Given the description of an element on the screen output the (x, y) to click on. 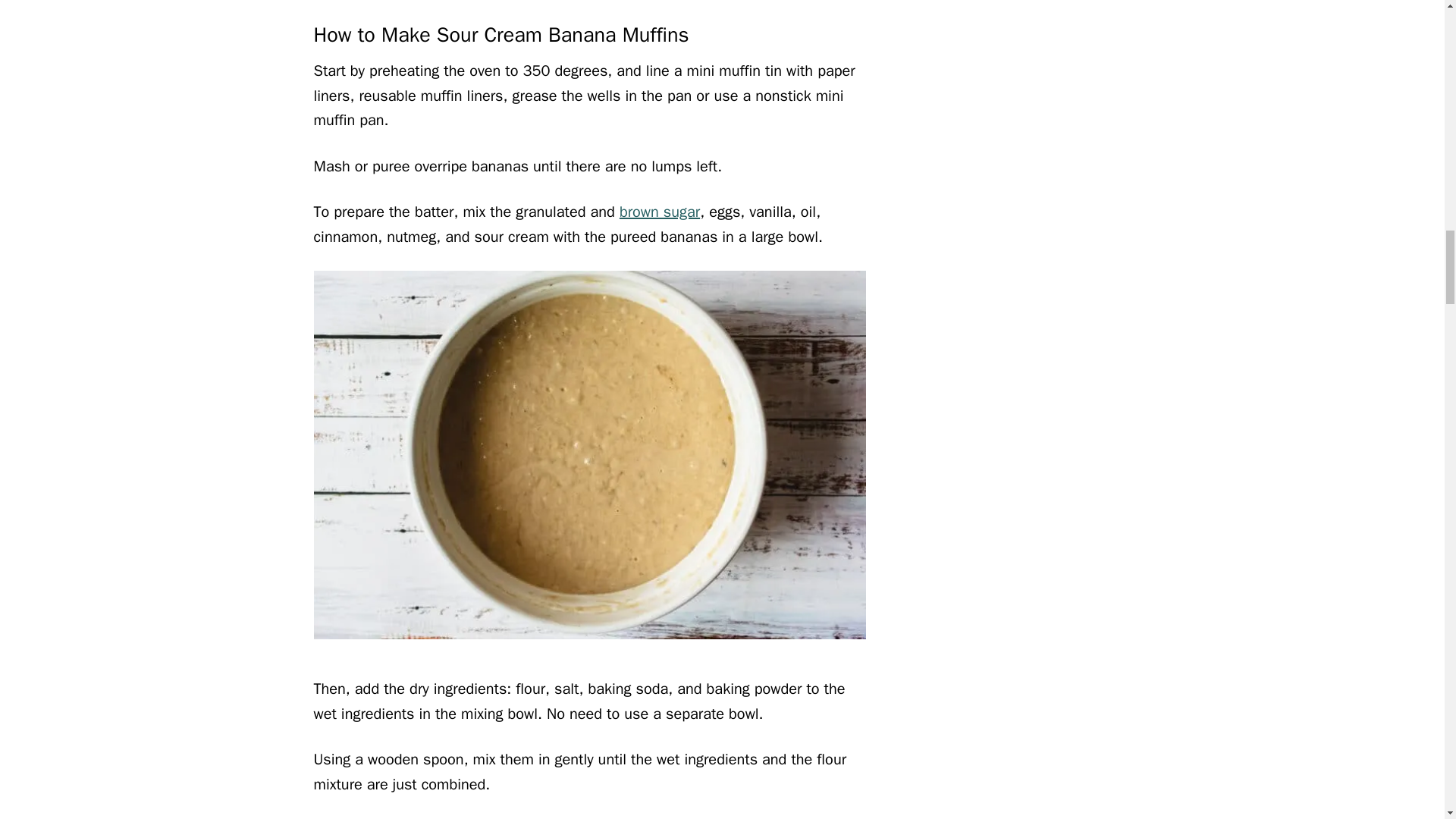
brown sugar (660, 211)
